Given the description of an element on the screen output the (x, y) to click on. 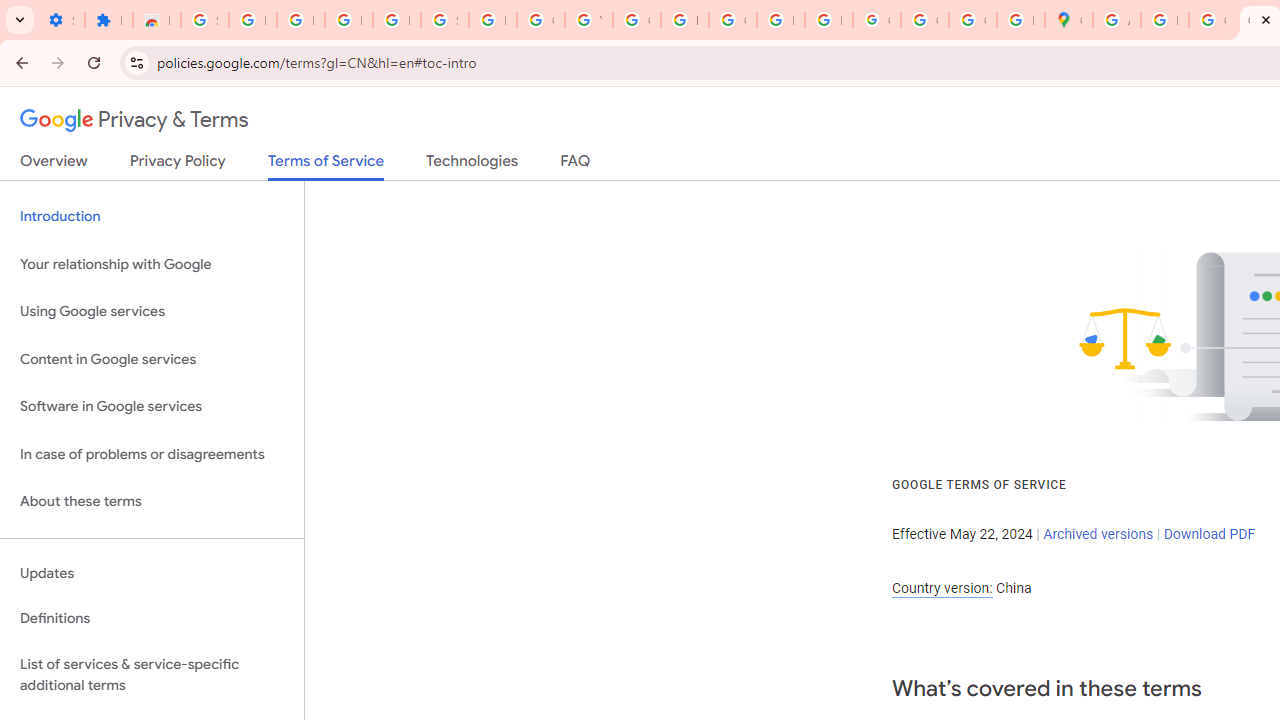
Settings - On startup (60, 20)
List of services & service-specific additional terms (152, 674)
Your relationship with Google (152, 263)
Create your Google Account (1212, 20)
FAQ (575, 165)
Terms of Service (326, 166)
Google Account (540, 20)
About these terms (152, 502)
https://scholar.google.com/ (684, 20)
